Given the description of an element on the screen output the (x, y) to click on. 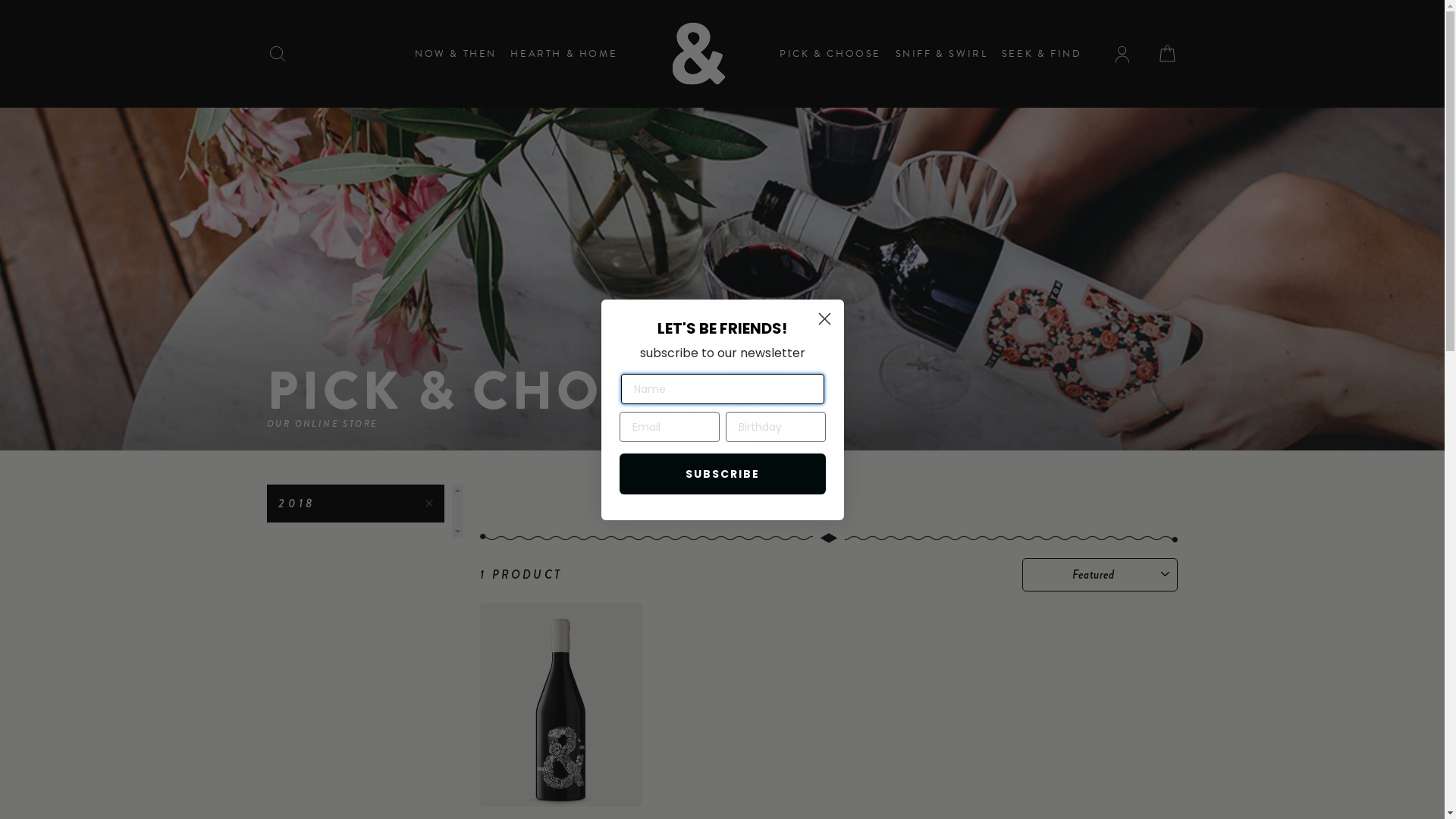
2018 Element type: text (355, 503)
CART Element type: text (1166, 53)
Skip to content Element type: text (0, 0)
NOW & THEN Element type: text (455, 53)
SUBSCRIBE Element type: text (721, 473)
HEARTH & HOME Element type: text (563, 53)
SNIFF & SWIRL Element type: text (941, 53)
PICK & CHOOSE Element type: text (830, 53)
SEEK & FIND Element type: text (1041, 53)
SEARCH Element type: text (277, 53)
Submit Element type: text (26, 16)
